Given the description of an element on the screen output the (x, y) to click on. 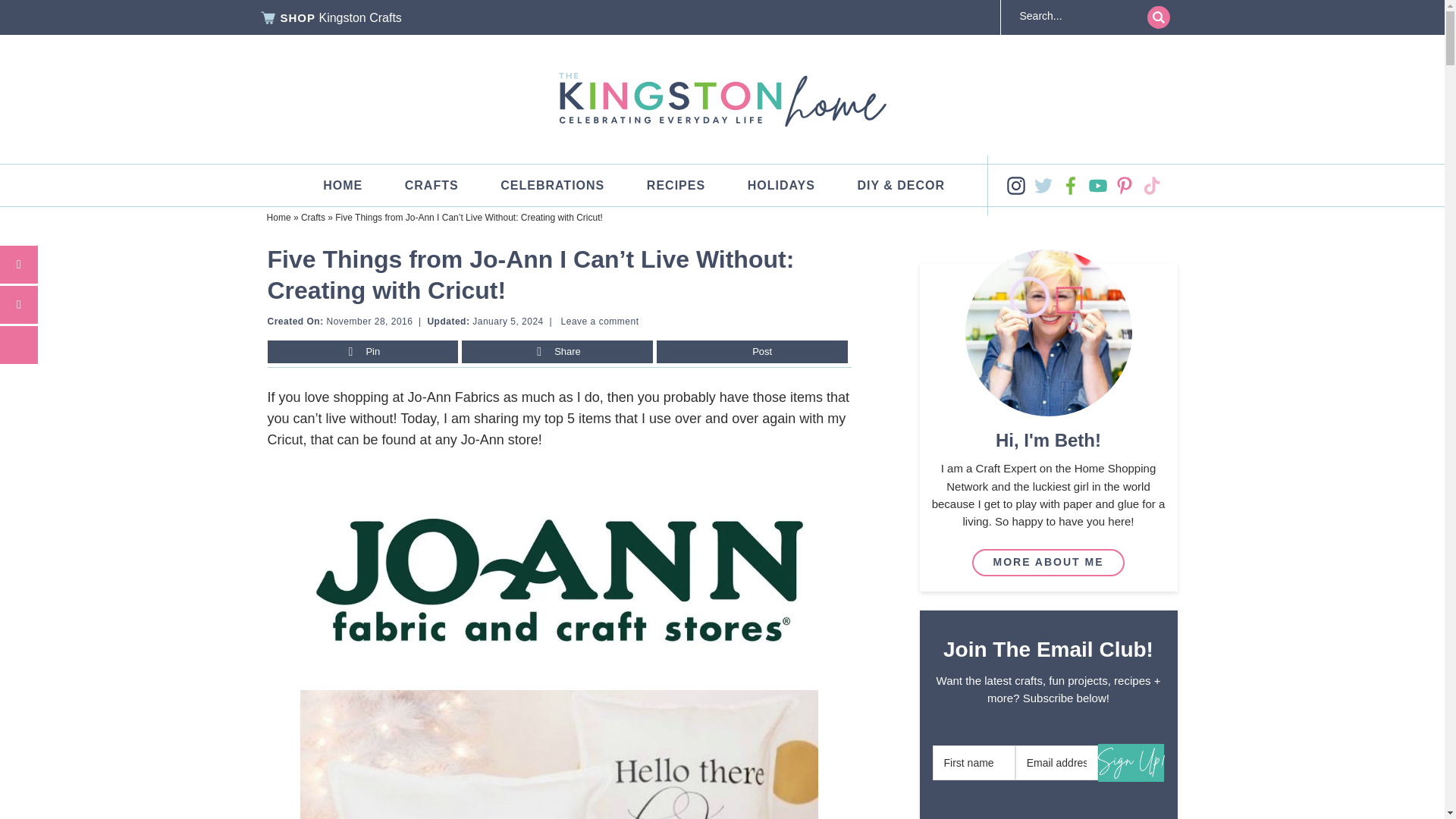
Search (1158, 16)
Kingston Crafts (359, 16)
Search (1158, 16)
